Given the description of an element on the screen output the (x, y) to click on. 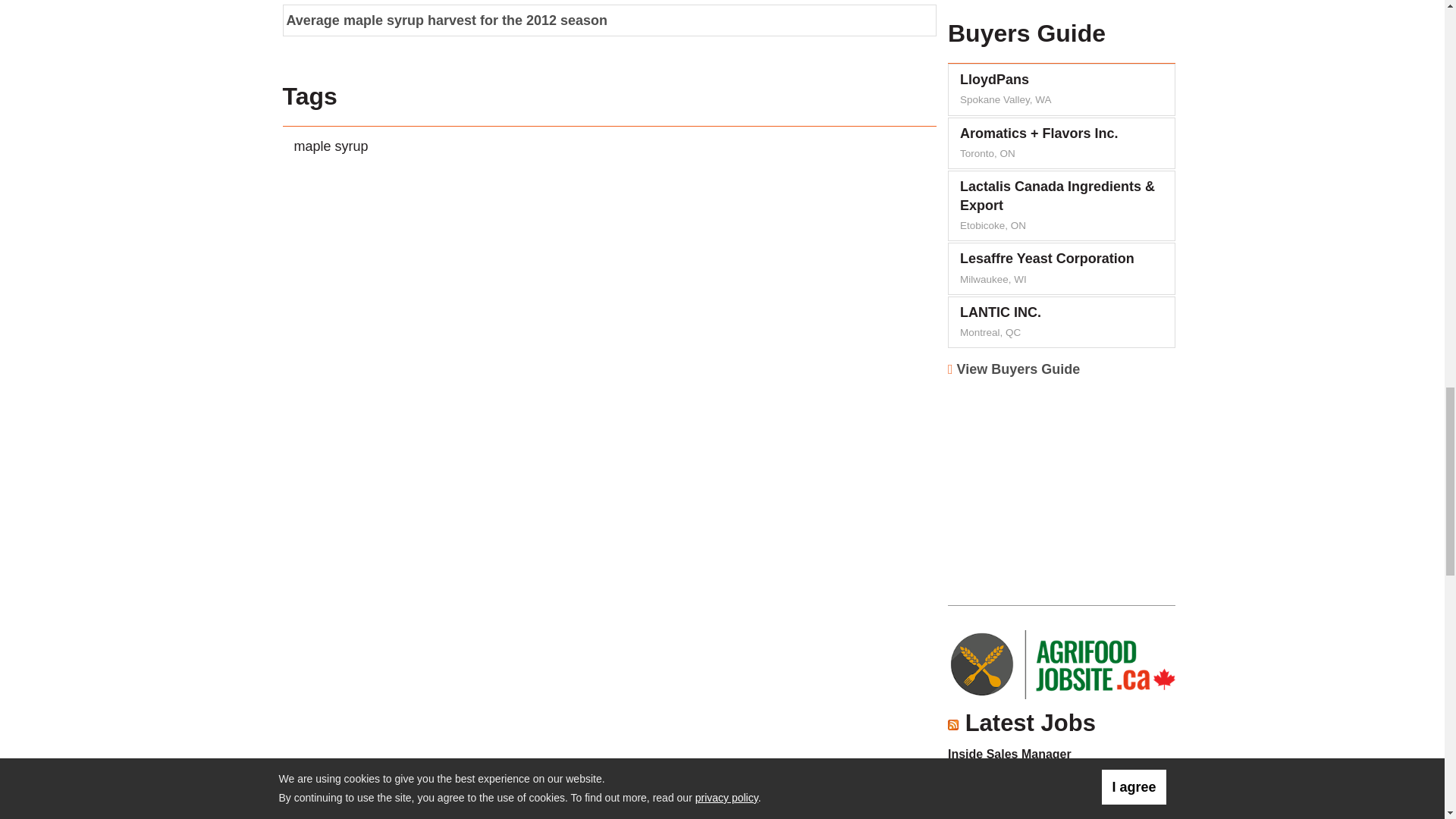
3rd party ad content (1055, 2)
3rd party ad content (1055, 485)
